Given the description of an element on the screen output the (x, y) to click on. 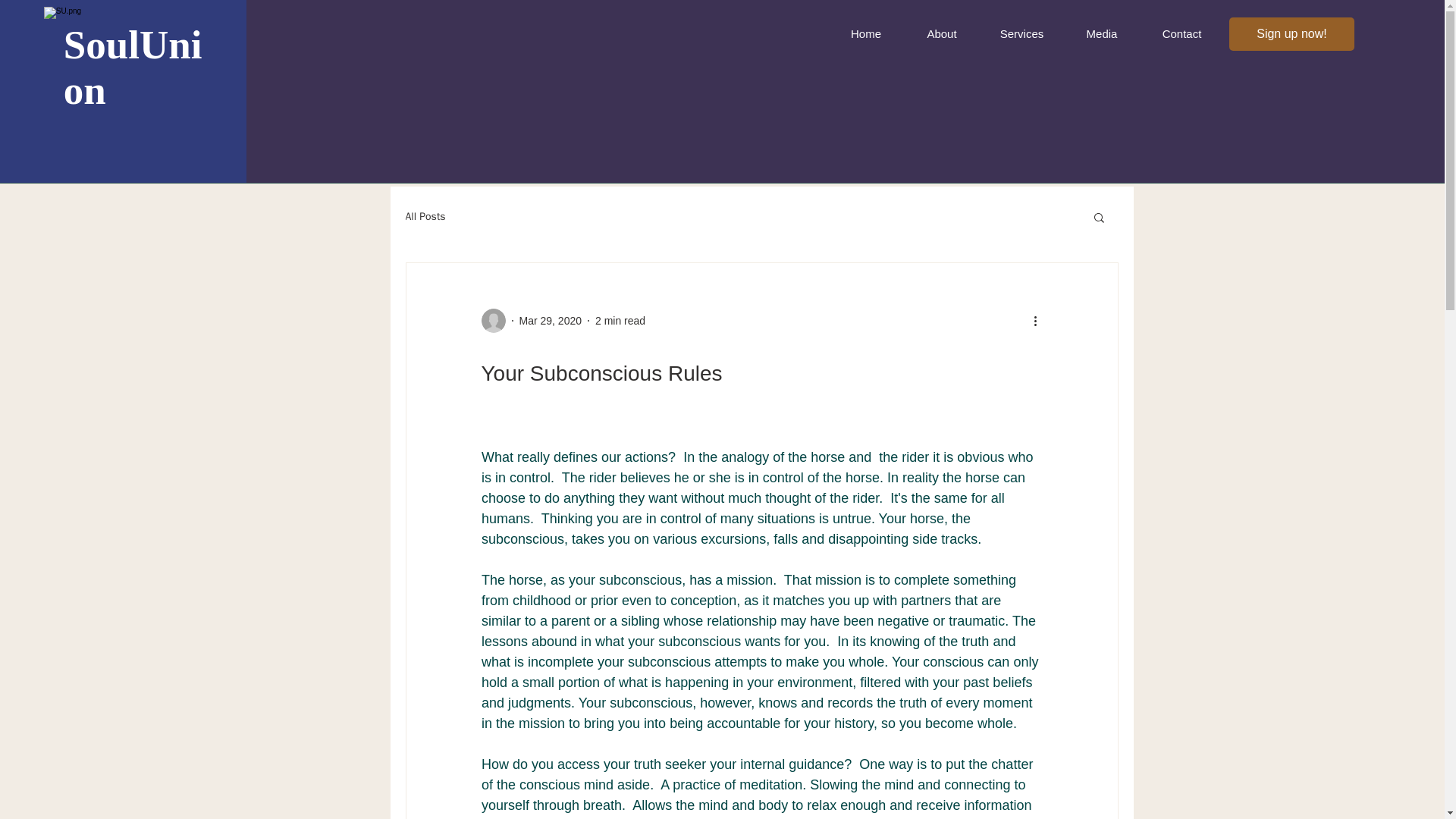
2 min read (620, 319)
All Posts (424, 216)
Media (1102, 33)
Mar 29, 2020 (549, 319)
SoulUnion (133, 67)
Home (866, 33)
Sign up now! (1291, 33)
Contact (1182, 33)
About (941, 33)
Services (1021, 33)
